Given the description of an element on the screen output the (x, y) to click on. 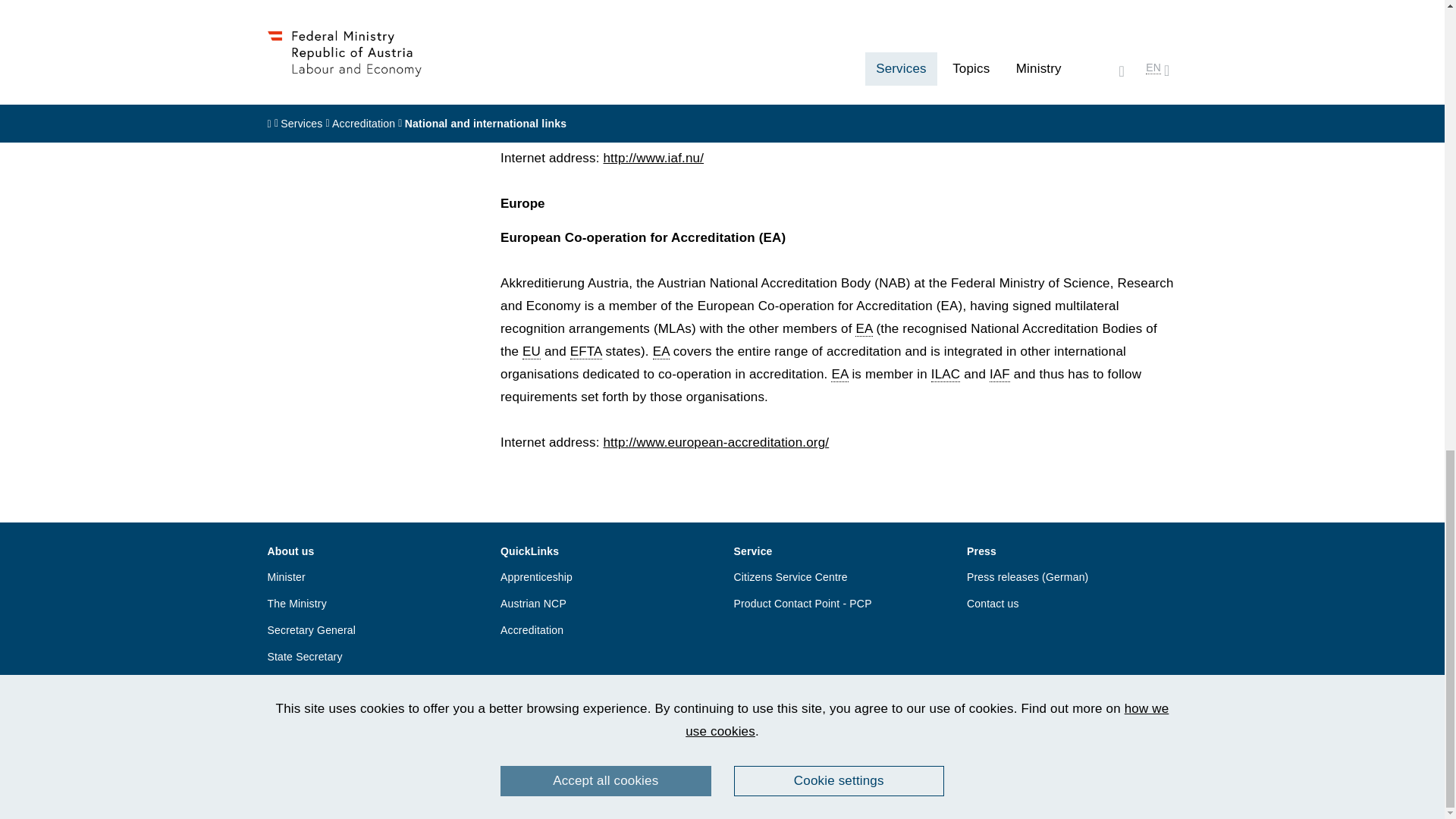
International Accreditation Forum (537, 112)
European Co-operation for Accreditation  (864, 328)
Environmental Management Systems (624, 112)
Quality Management Systems (823, 44)
mutual recognition arrangements (565, 112)
International Accreditation Forum (653, 44)
Opens in a new Tab (652, 157)
